Given the description of an element on the screen output the (x, y) to click on. 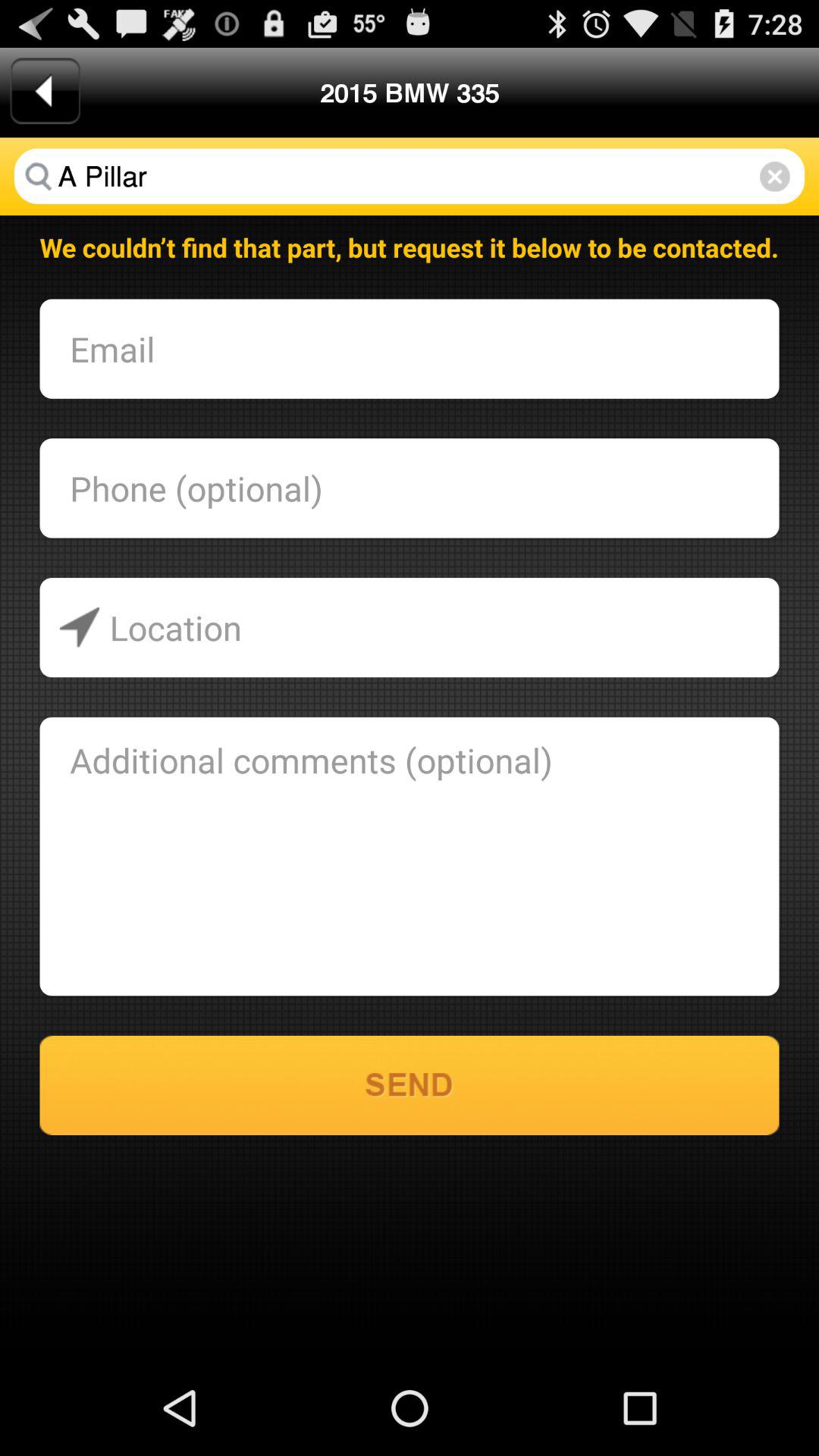
select the item above we couldn t icon (409, 176)
